Given the description of an element on the screen output the (x, y) to click on. 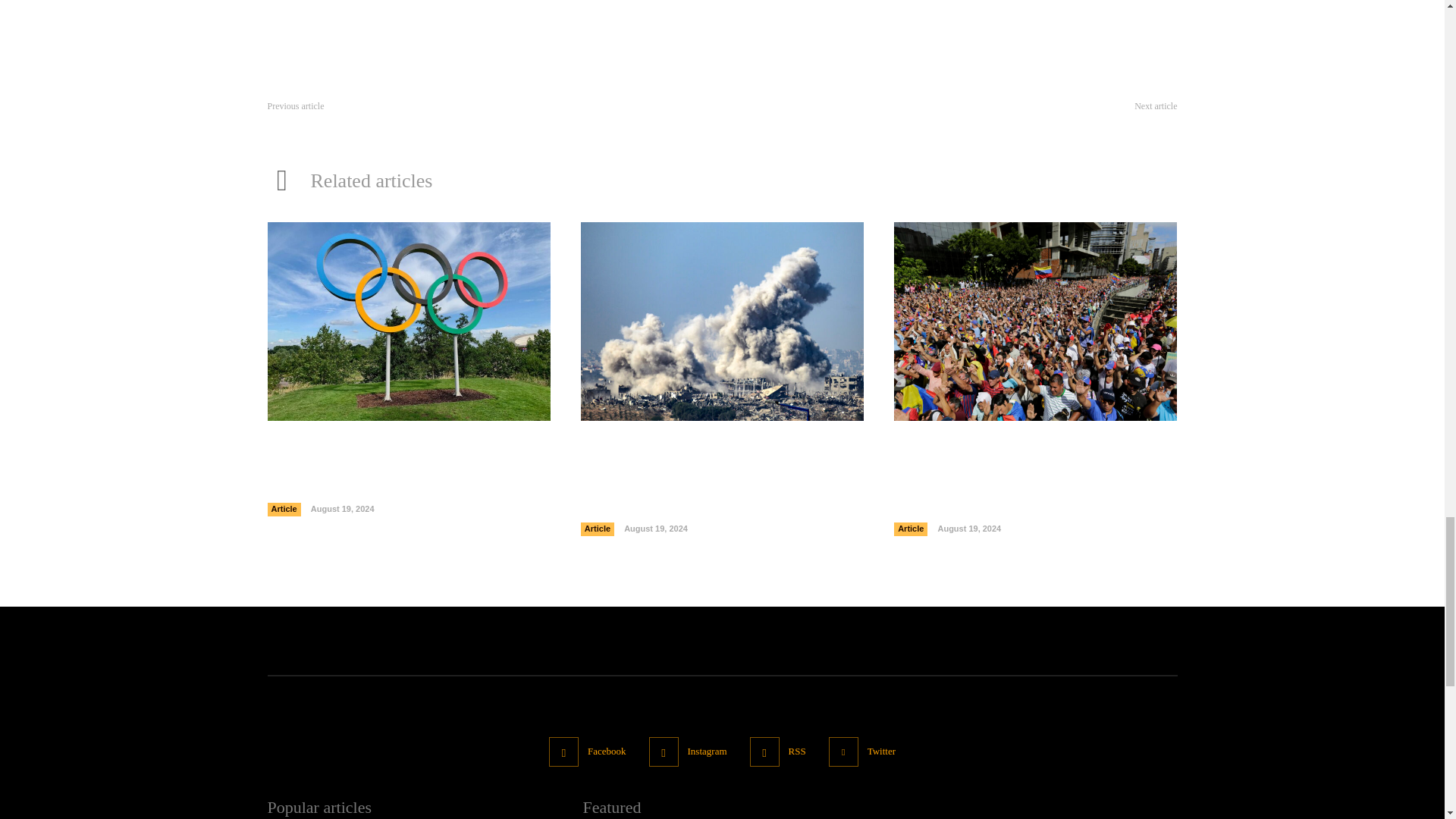
EXPLAINED: The tensions and crisis in Venezuela (1017, 503)
Can AI identify future Olympians? (372, 493)
Can AI identify future Olympians? (408, 320)
EXPLAINED: The tensions and crisis in Venezuela (1034, 320)
